Given the description of an element on the screen output the (x, y) to click on. 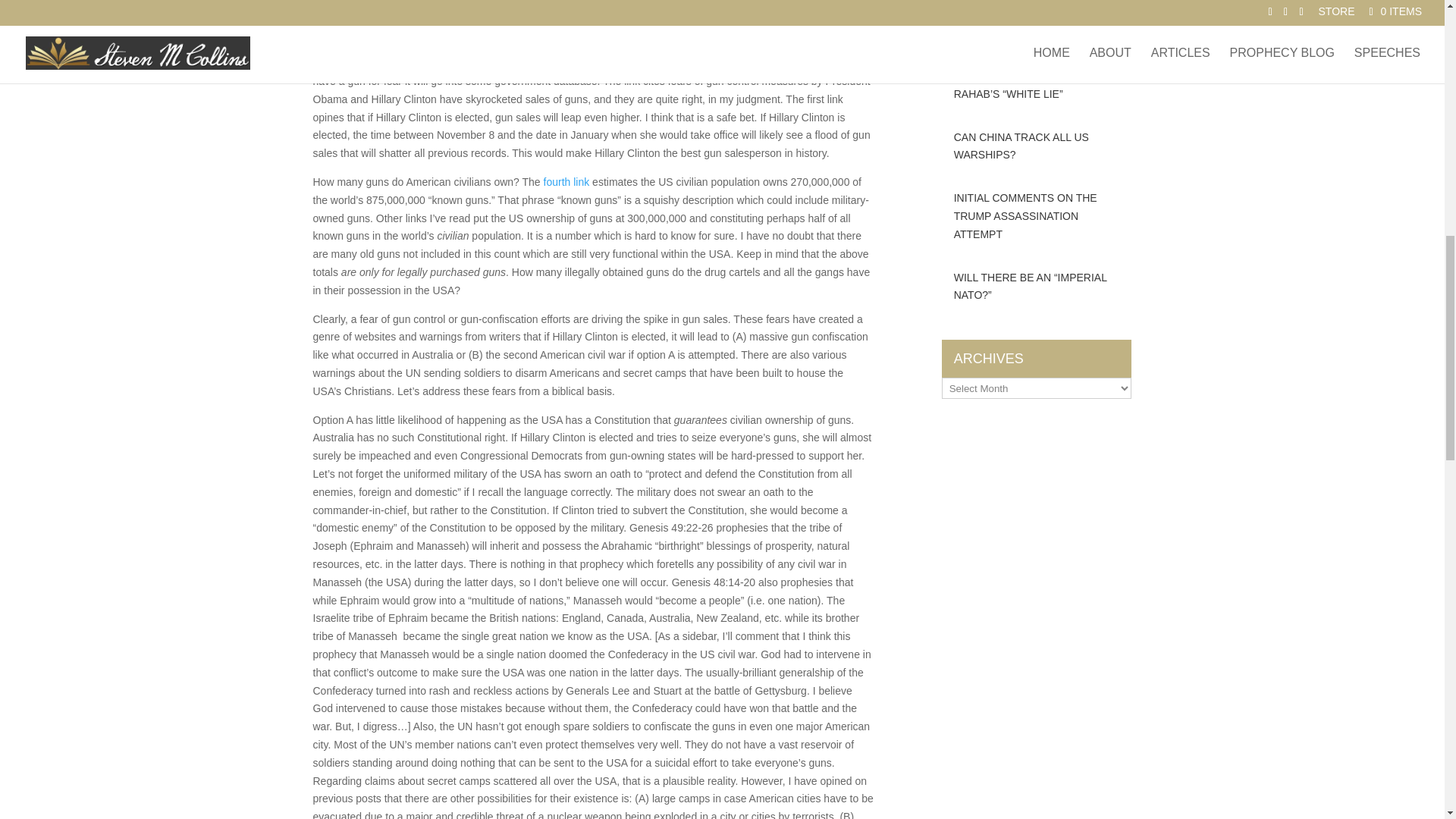
fourth link (566, 182)
CAN CHINA TRACK ALL US WARSHIPS? (1037, 147)
third link (354, 44)
